Given the description of an element on the screen output the (x, y) to click on. 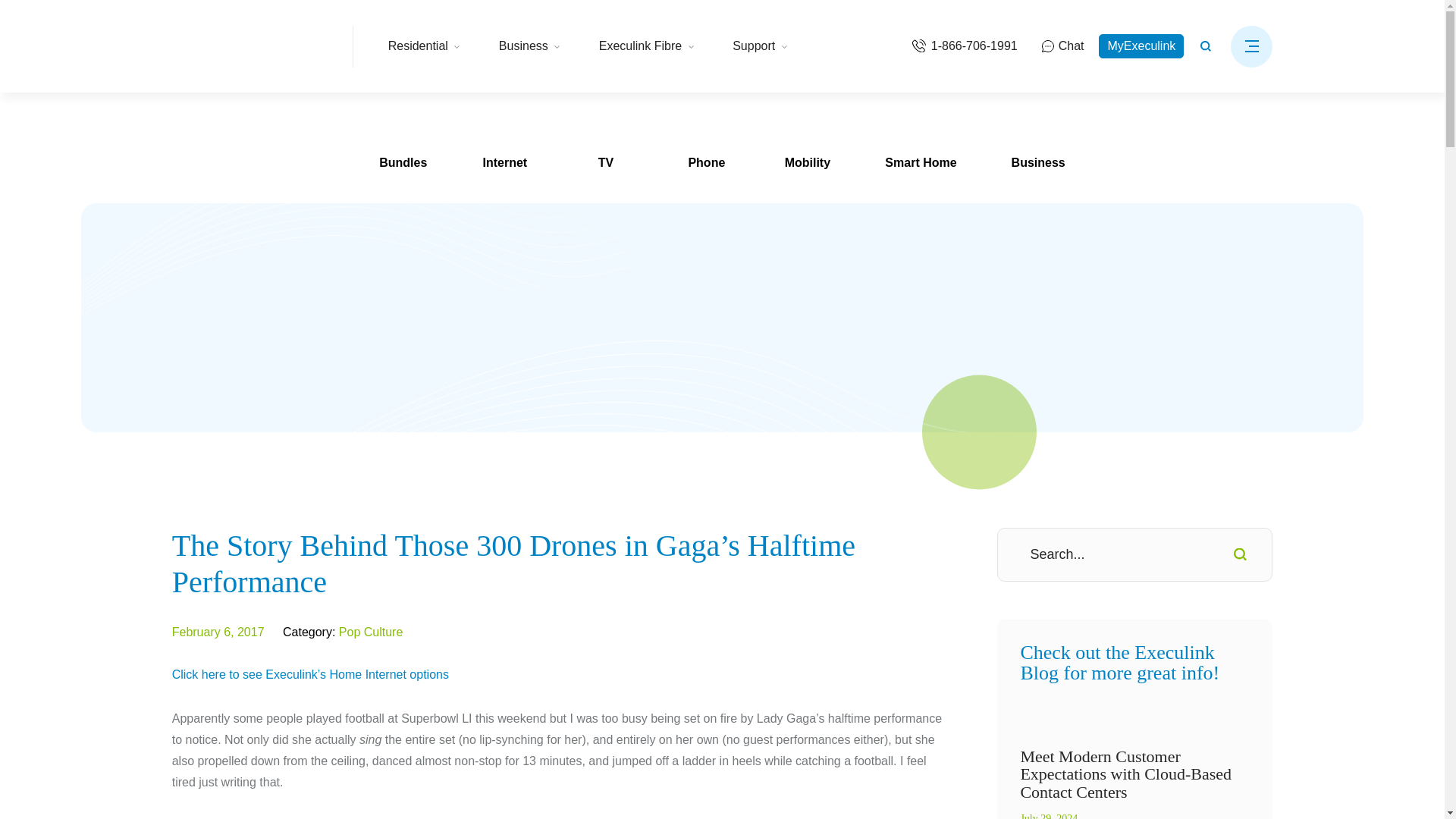
Business (529, 45)
Residential (424, 45)
Search (1239, 554)
Search (1239, 554)
